Given the description of an element on the screen output the (x, y) to click on. 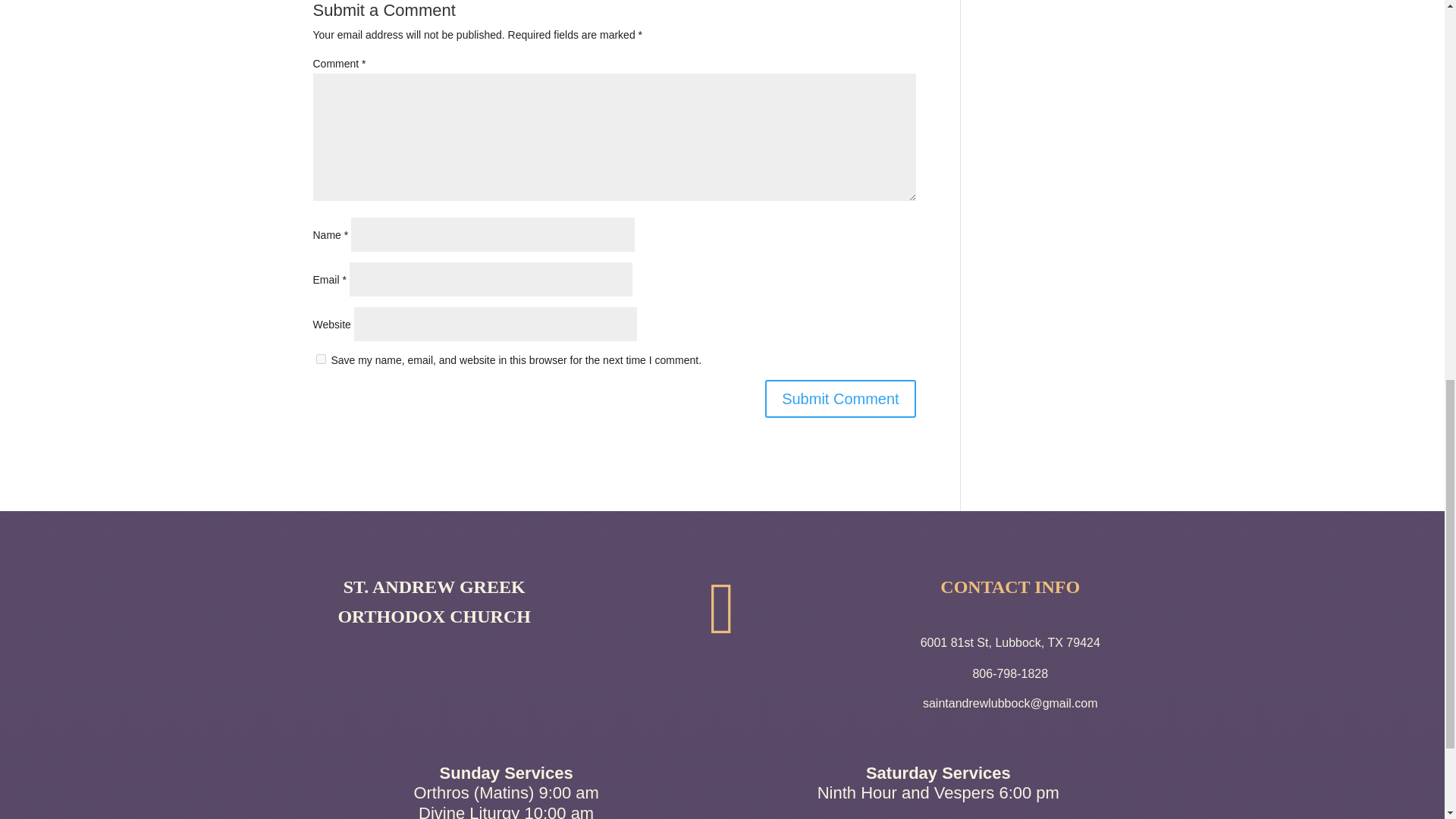
806-798-1828 (1010, 673)
Submit Comment (840, 398)
Submit Comment (840, 398)
yes (319, 358)
